Given the description of an element on the screen output the (x, y) to click on. 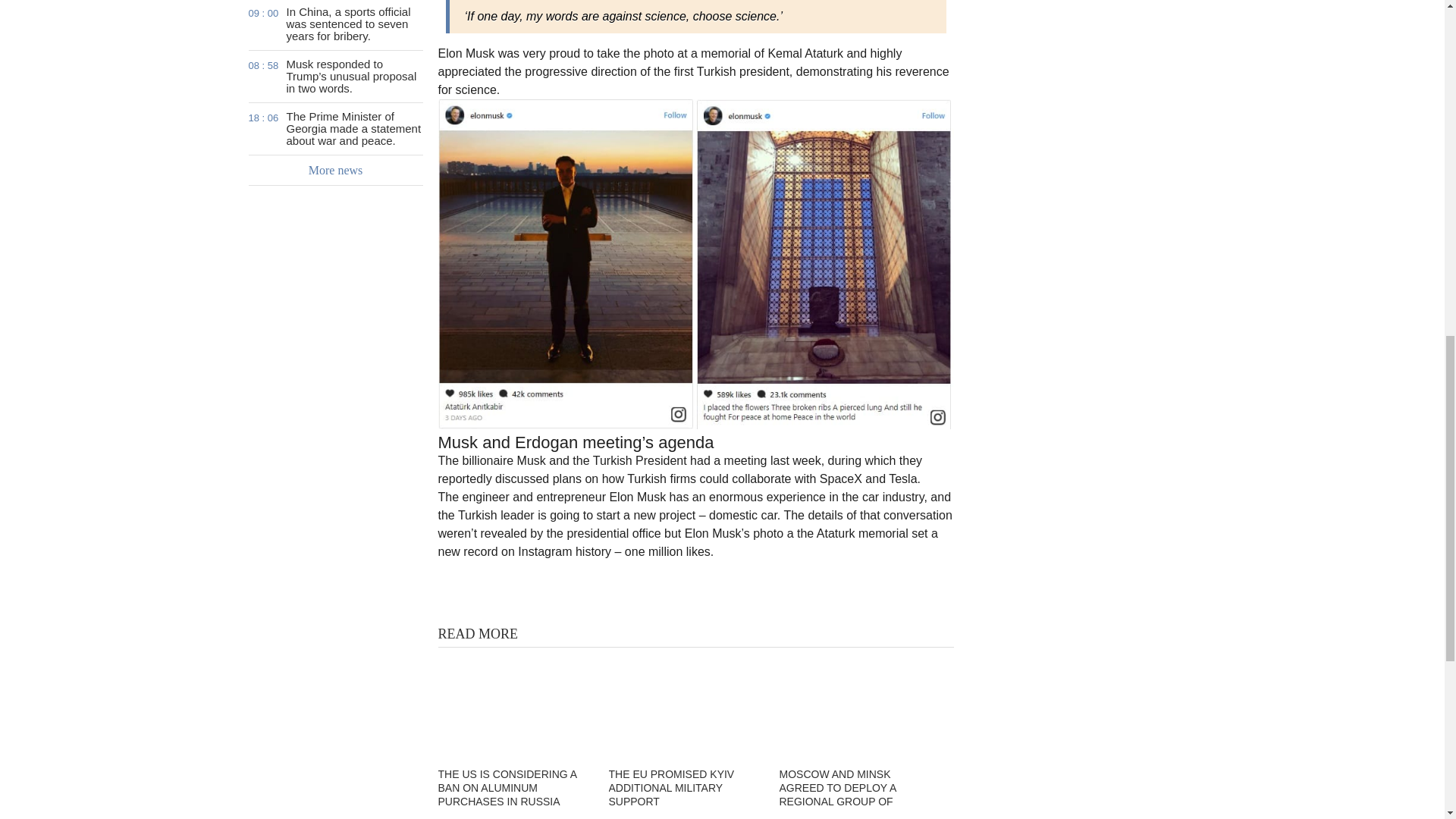
The US is considering a ban on aluminum purchases in Russia (513, 705)
The EU promised Kyiv additional military support (684, 705)
Moscow and Minsk agreed to deploy a regional group of troops (854, 705)
More news (335, 170)
